Given the description of an element on the screen output the (x, y) to click on. 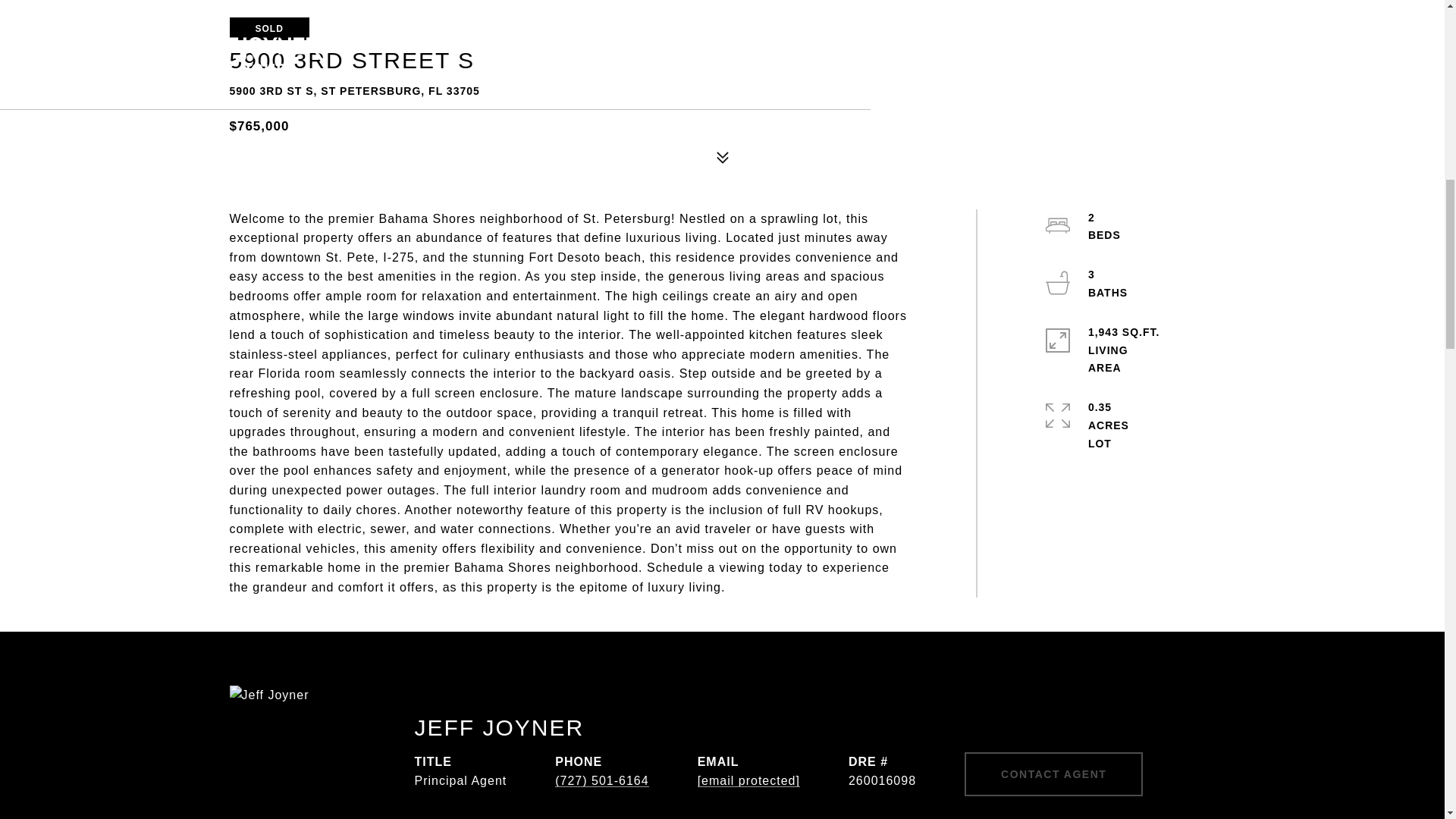
CONTACT AGENT (1052, 774)
